Given the description of an element on the screen output the (x, y) to click on. 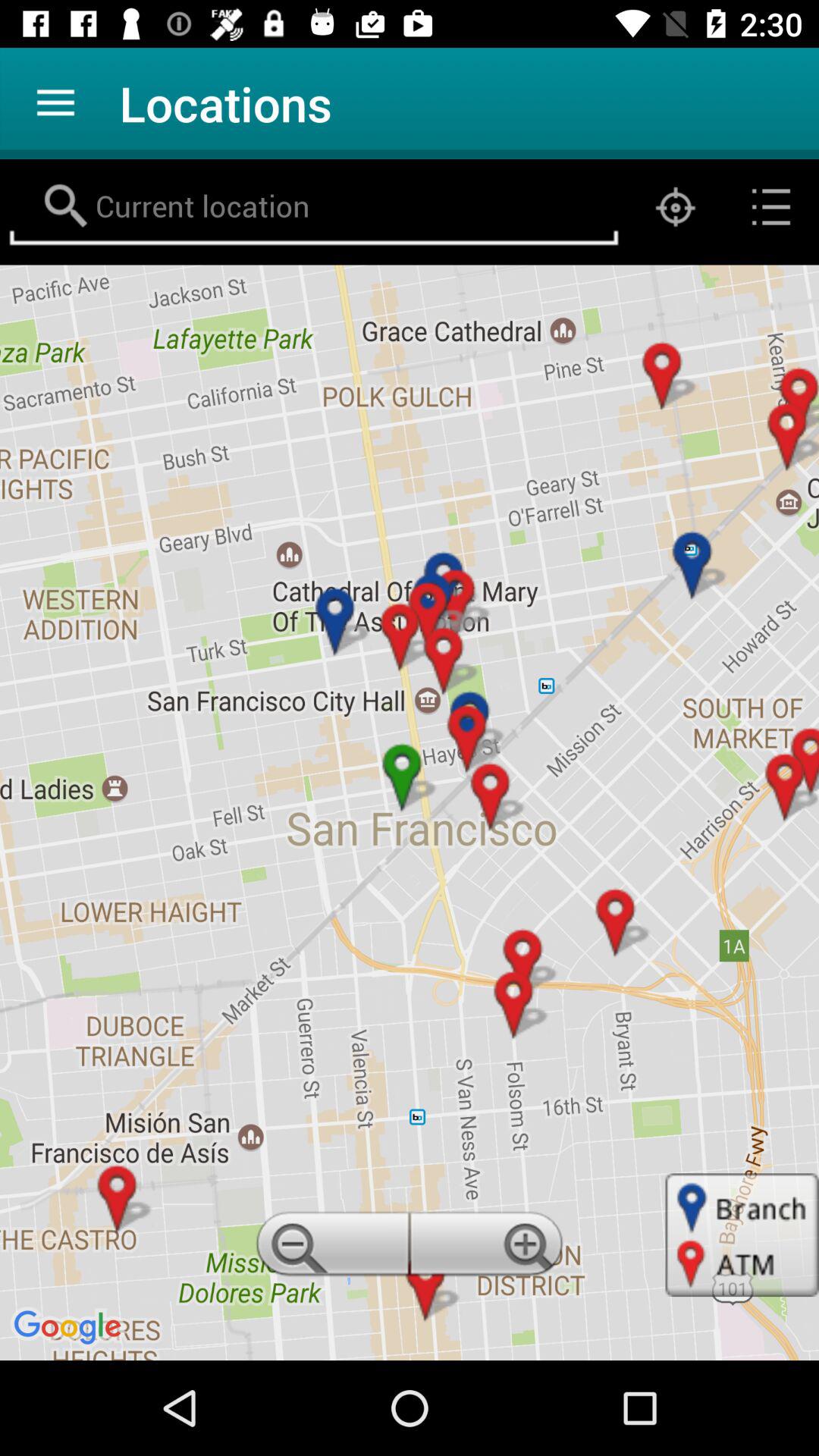
choose item at the center (409, 812)
